Given the description of an element on the screen output the (x, y) to click on. 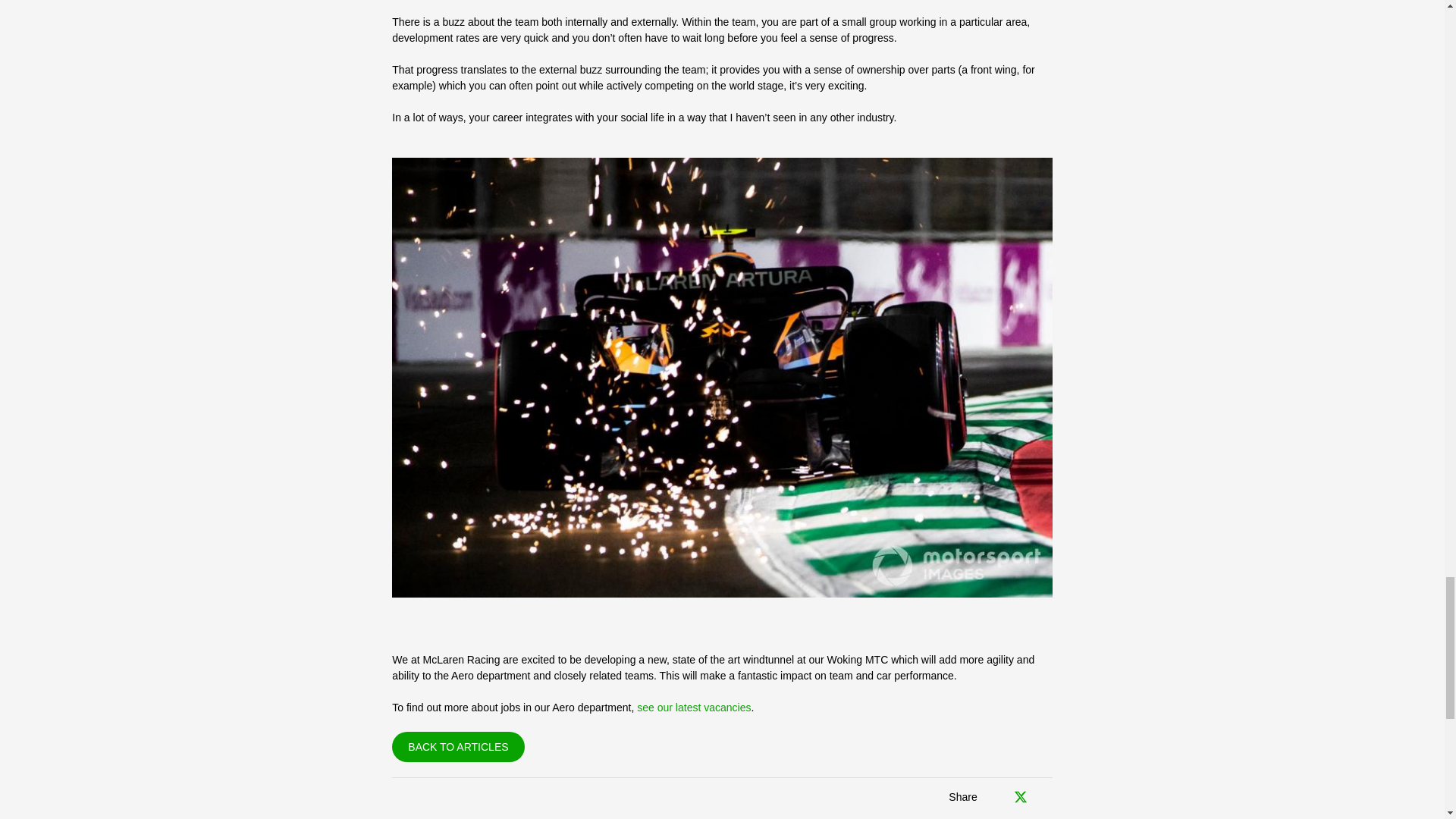
see our latest vacancies (694, 707)
BACK TO ARTICLES (457, 747)
